Given the description of an element on the screen output the (x, y) to click on. 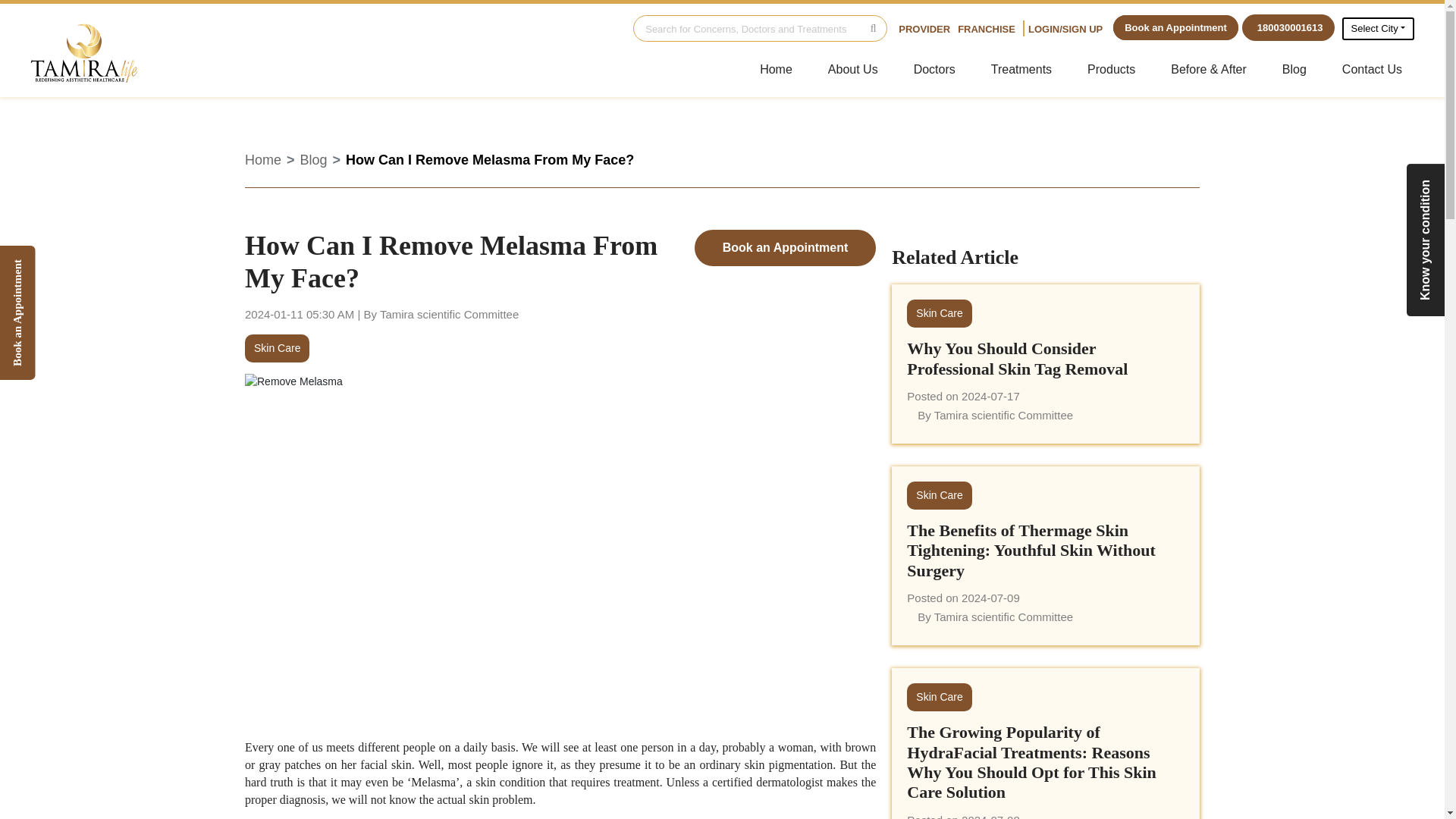
Products (1111, 69)
Contact Us (1371, 69)
About Us (852, 69)
Treatments (1021, 69)
Select City (1377, 27)
PROVIDER (924, 29)
Book an Appointment (785, 248)
Home (262, 159)
Home (776, 69)
Doctors (934, 69)
